Given the description of an element on the screen output the (x, y) to click on. 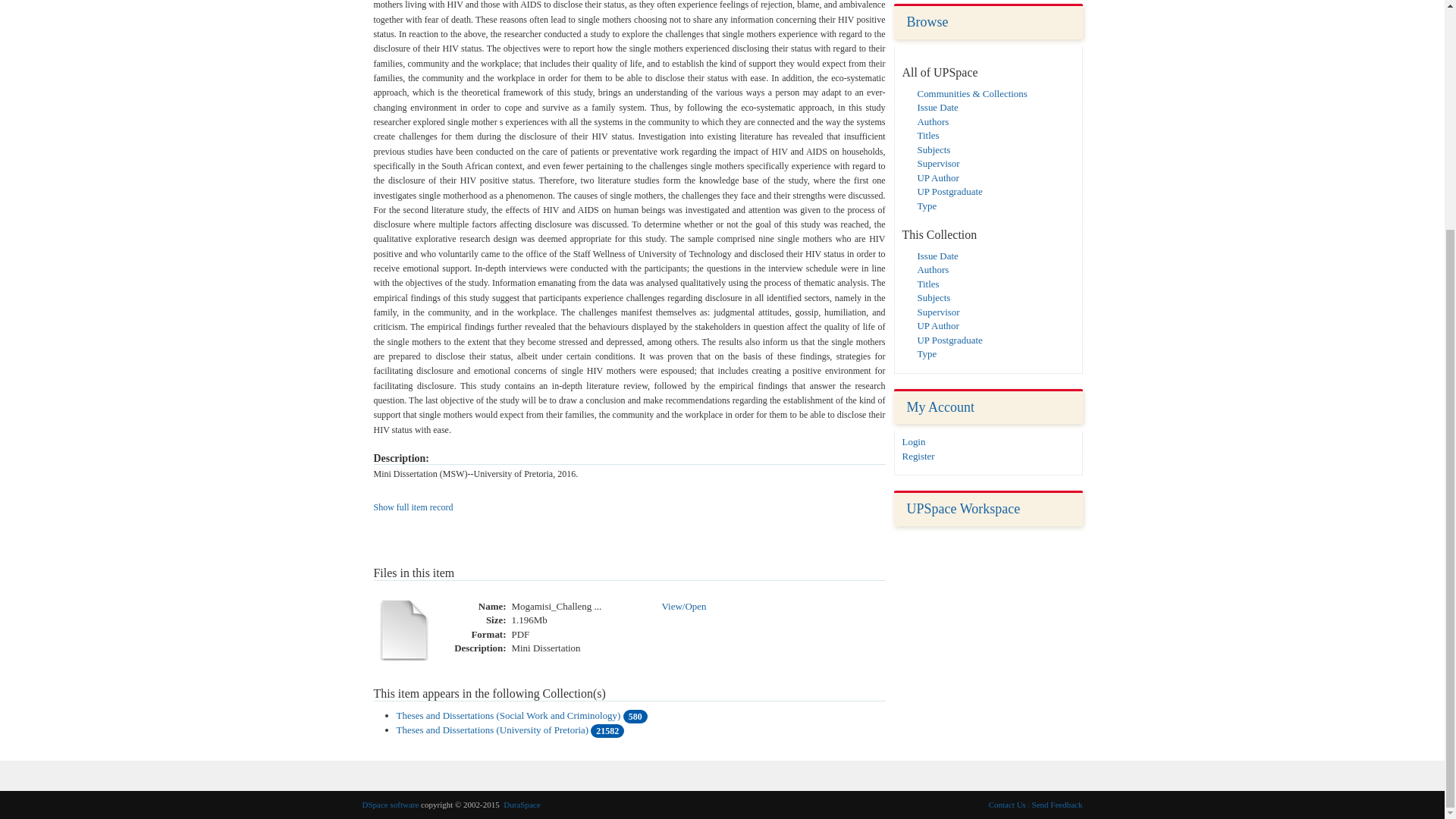
UP Author (938, 177)
Login (914, 441)
Send Feedback (1057, 804)
DuraSpace (521, 804)
UPSpace Workspace (963, 508)
Titles (928, 134)
Type (927, 204)
Subjects (933, 148)
Authors (933, 121)
UP Author (938, 325)
